Given the description of an element on the screen output the (x, y) to click on. 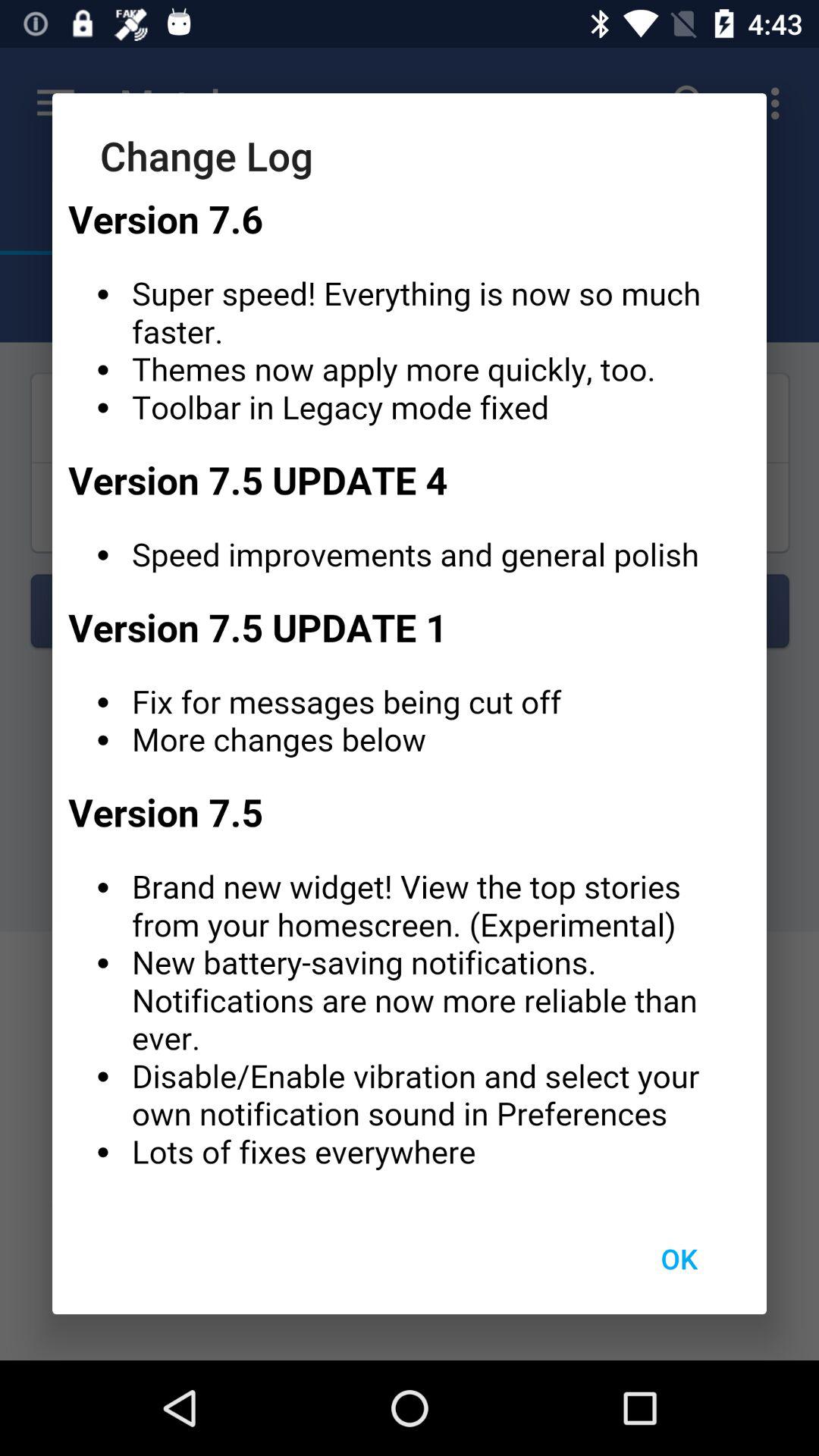
specify one descriptive (409, 692)
